Given the description of an element on the screen output the (x, y) to click on. 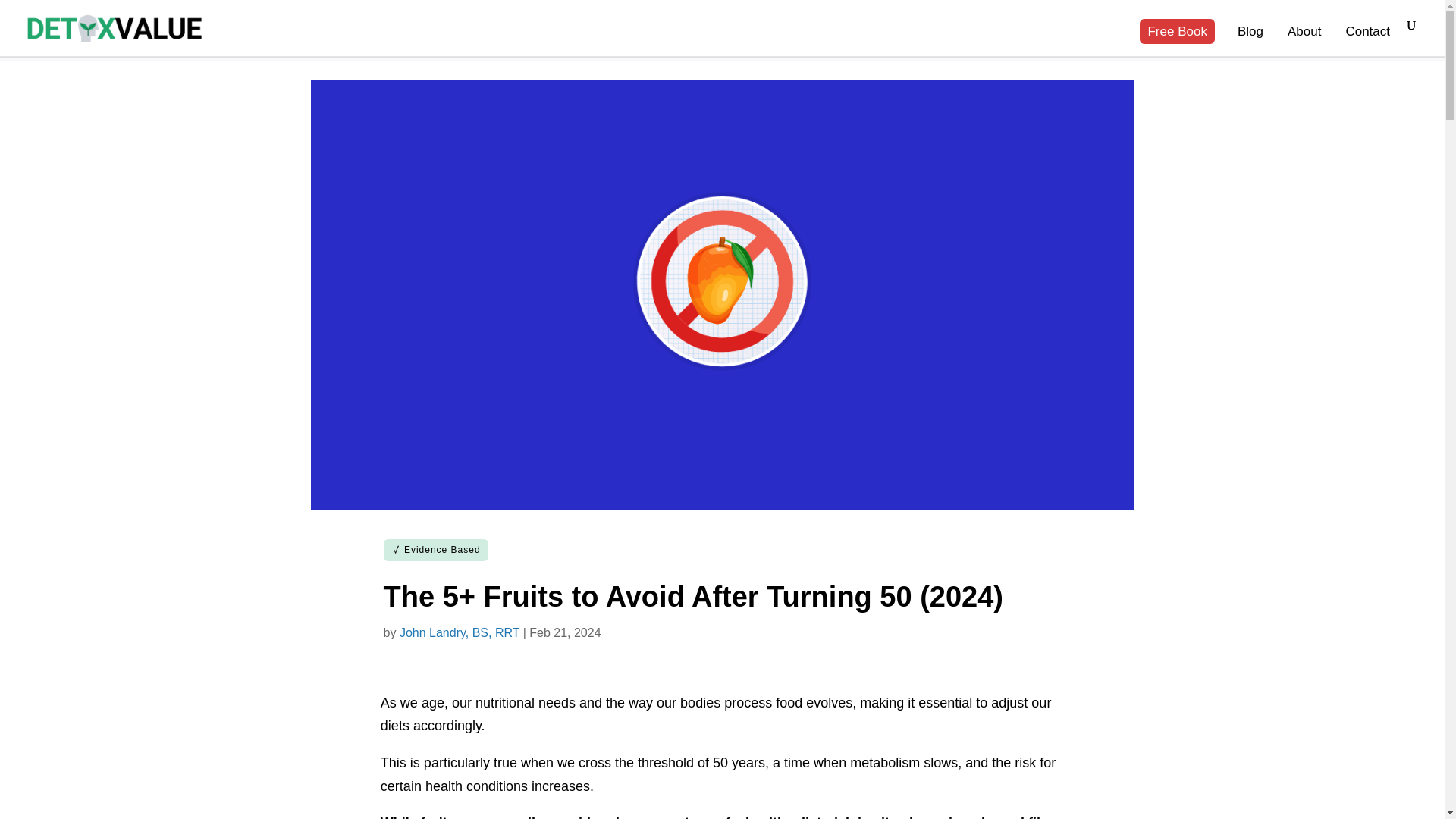
Posts by John Landry, BS, RRT (458, 632)
Free Book (1177, 41)
About (1303, 41)
Contact (1367, 41)
John Landry, BS, RRT (458, 632)
